Given the description of an element on the screen output the (x, y) to click on. 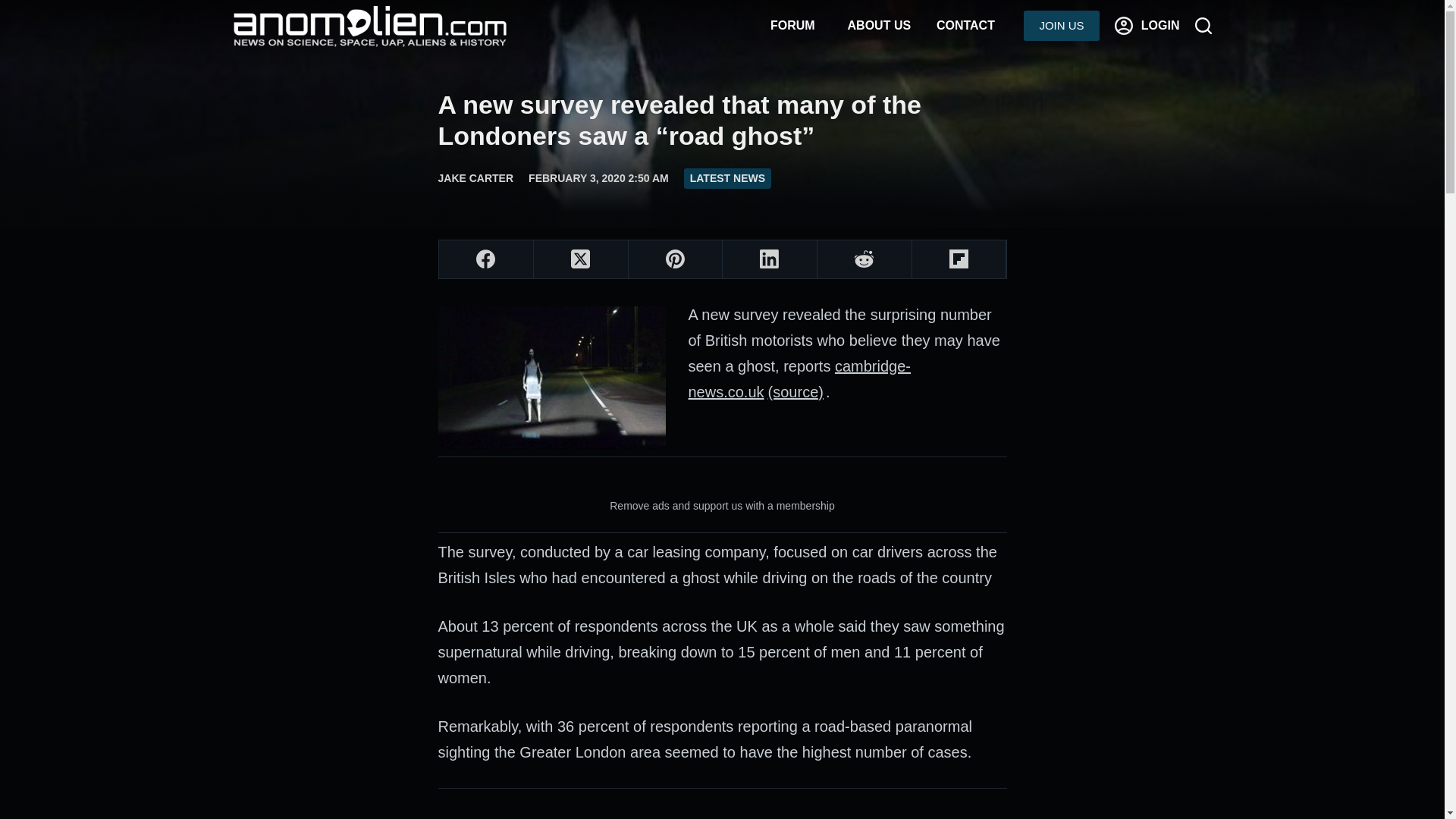
Discussion Forum (792, 25)
Posts by Jake Carter (475, 177)
Skip to content (15, 7)
